Given the description of an element on the screen output the (x, y) to click on. 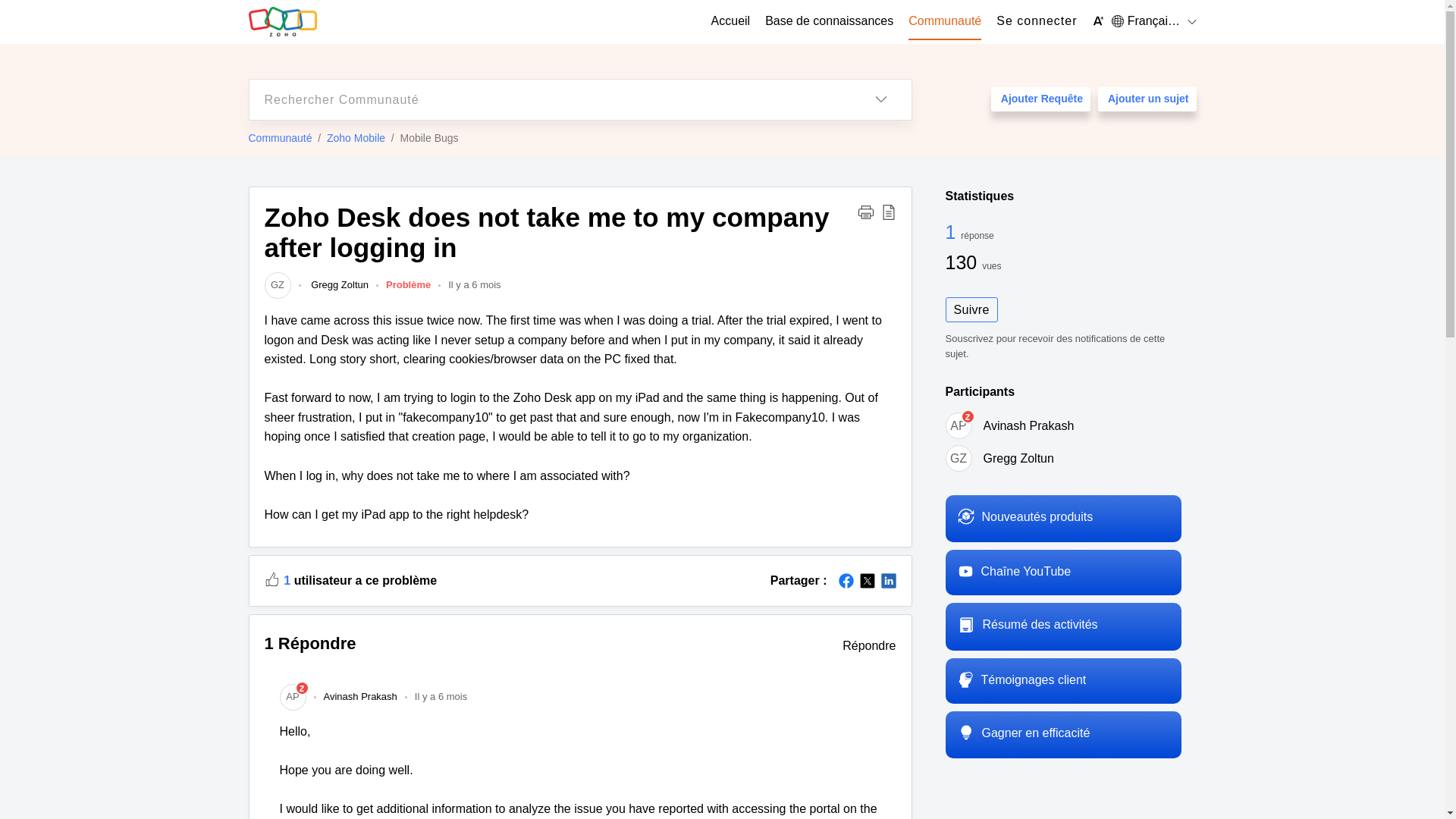
Twitter (867, 580)
GZ (957, 458)
Gregg Zoltun (1017, 457)
Base de connaissances (829, 21)
GZ (276, 284)
AP (292, 696)
Zoho Mobile (355, 137)
LinkedIn (888, 580)
Avinash Prakash (1028, 425)
Accueil (731, 21)
AP (957, 425)
Ajouter un sujet (1146, 98)
Accueil (731, 21)
Facebook (845, 580)
Gregg Zoltun (337, 284)
